Given the description of an element on the screen output the (x, y) to click on. 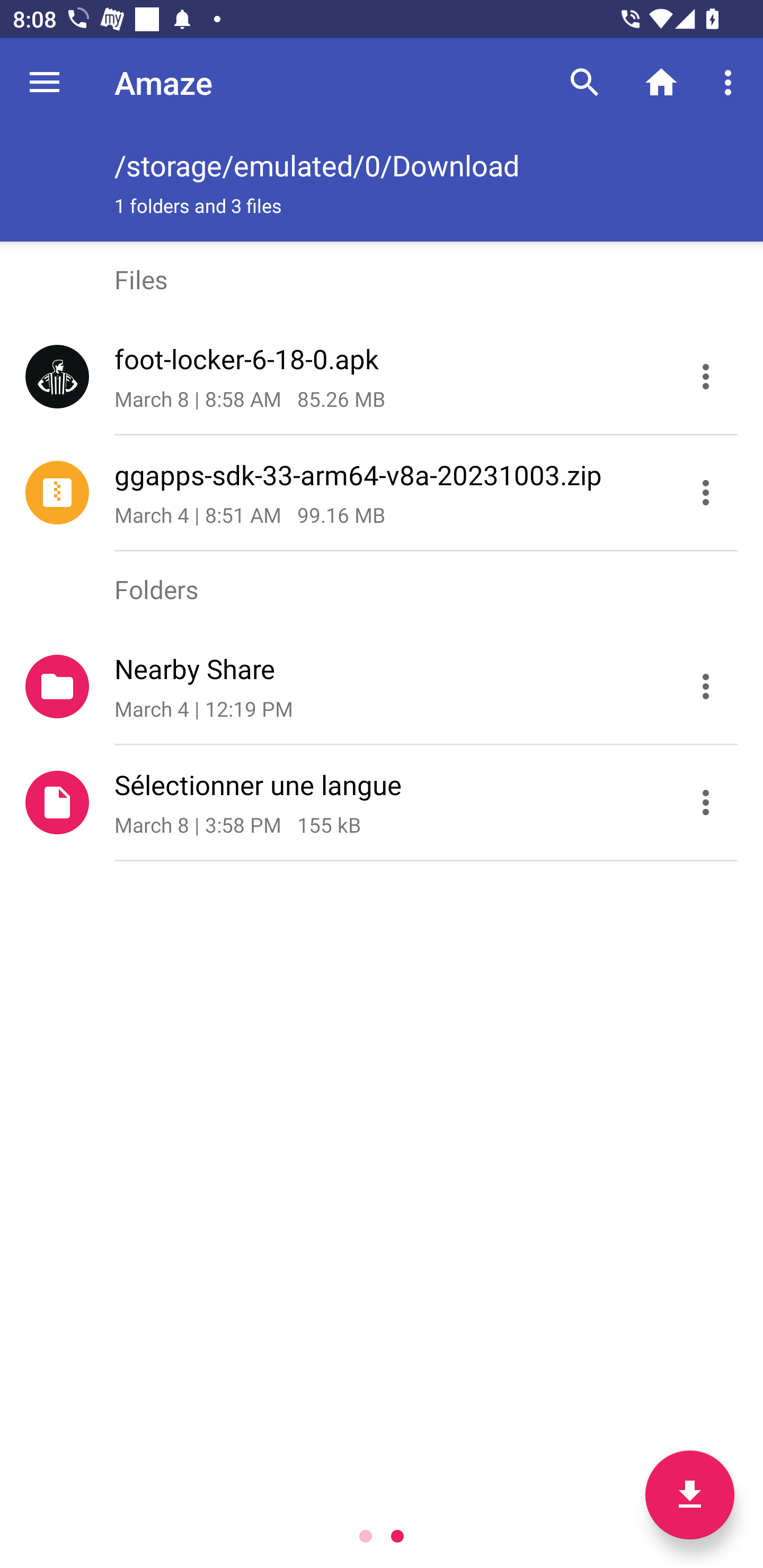
Navigate up (44, 82)
Search (585, 81)
Home (661, 81)
More options (731, 81)
foot-locker-6-18-0.apk March 8 | 8:58 AM 85.26 MB (381, 376)
Nearby Share March 4 | 12:19 PM (381, 685)
Sélectionner une langue March 8 | 3:58 PM 155 kB (381, 801)
